Given the description of an element on the screen output the (x, y) to click on. 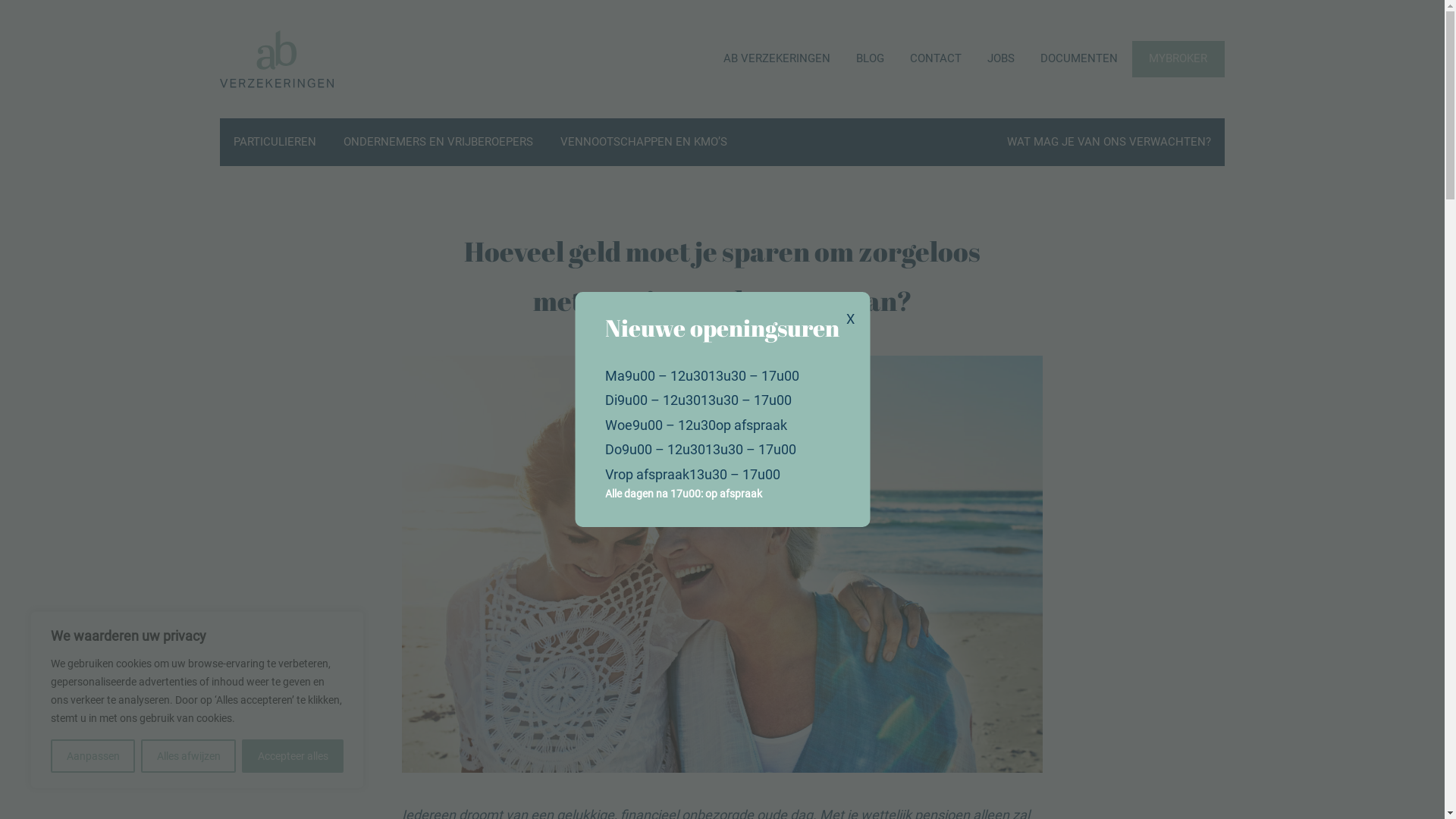
MYBROKER Element type: text (141, 304)
Jobs Element type: text (107, 211)
CONTACT Element type: text (935, 58)
MYBROKER Element type: text (1177, 58)
ONDERNEMERS EN VRIJBEROEPERS Element type: text (438, 142)
Aanpassen Element type: text (92, 755)
Sluit menu Element type: text (1338, 39)
Alles afwijzen Element type: text (188, 755)
Wat mag je van ons verwachten? Element type: text (225, 481)
DOCUMENTEN Element type: text (1078, 58)
AB Verzekeringen Element type: text (160, 86)
Blog Element type: text (106, 128)
JOBS Element type: text (1000, 58)
Particulieren Element type: text (140, 356)
Contact Element type: text (120, 170)
WAT MAG JE VAN ONS VERWACHTEN? Element type: text (1109, 142)
Accepteer alles Element type: text (292, 755)
Ondernemers en vrijberoepers Element type: text (212, 397)
Documenten Element type: text (140, 253)
PARTICULIEREN Element type: text (274, 142)
BLOG Element type: text (870, 58)
AB VERZEKERINGEN Element type: text (776, 58)
